Given the description of an element on the screen output the (x, y) to click on. 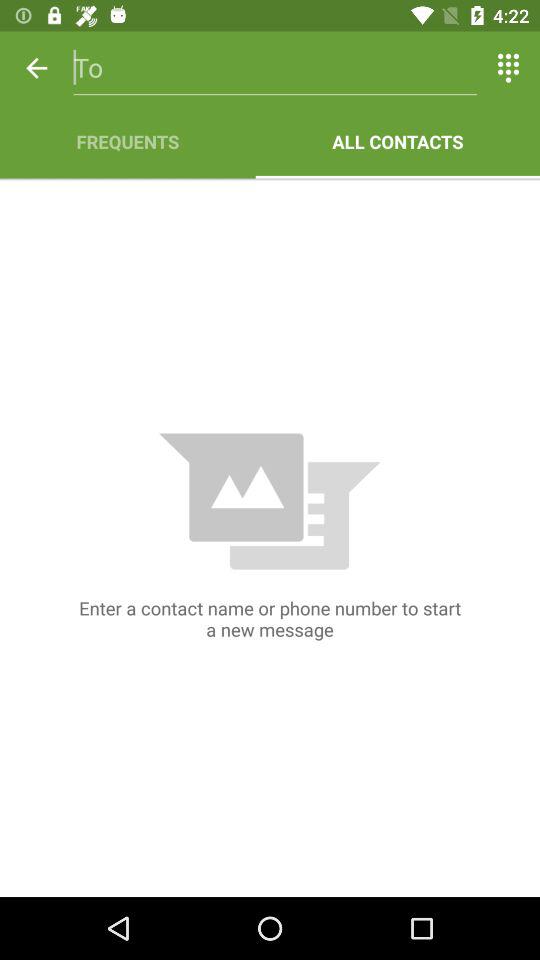
click the icon next to all contacts (127, 141)
